Given the description of an element on the screen output the (x, y) to click on. 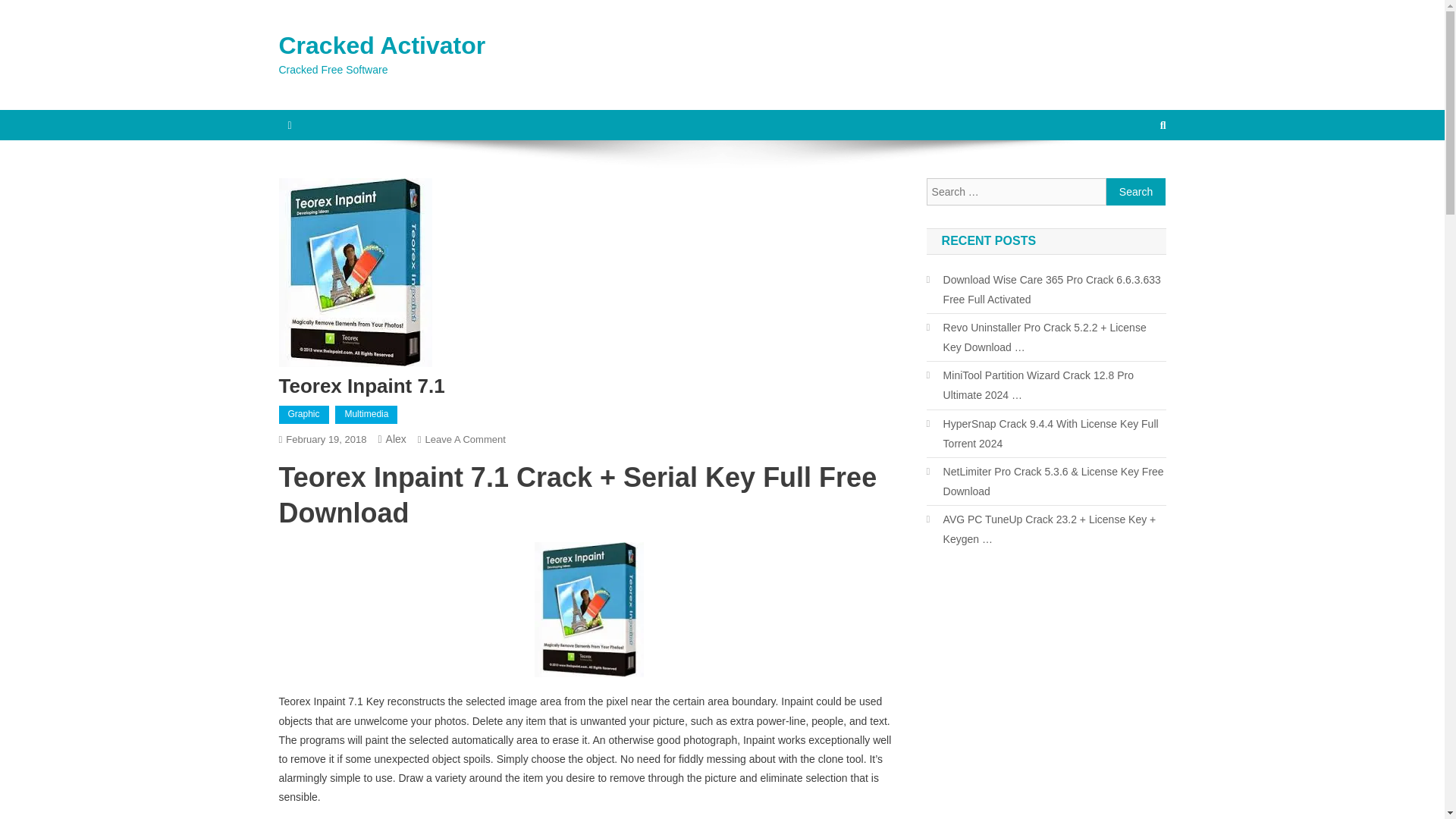
Multimedia (365, 414)
Search (1133, 175)
Alex (395, 439)
February 19, 2018 (325, 439)
Graphic (304, 414)
Search (1136, 191)
Cracked Activator (382, 44)
Search (1136, 191)
